Given the description of an element on the screen output the (x, y) to click on. 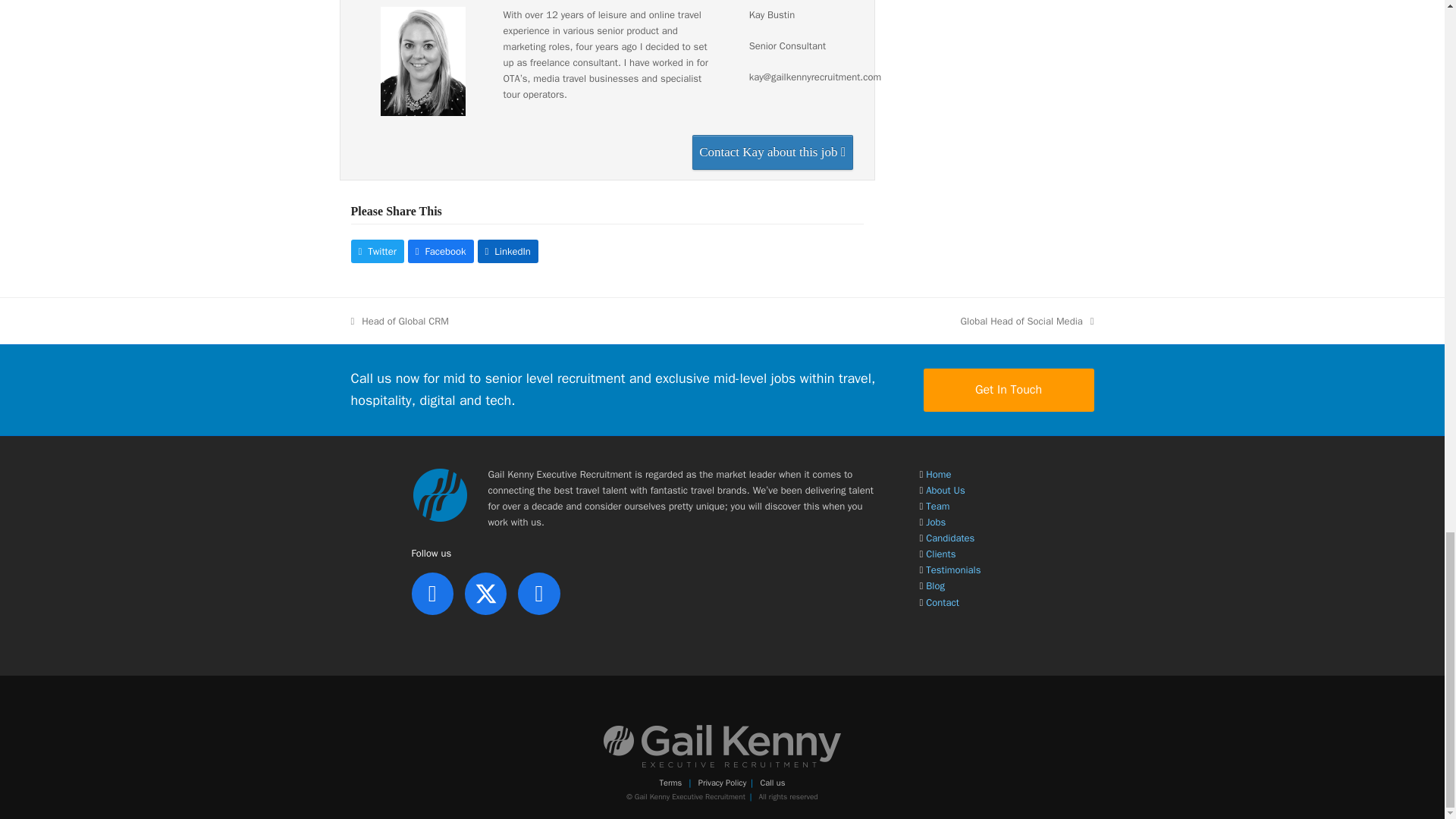
Contact Kay about this job (772, 152)
Email (772, 152)
LinkedIn (507, 250)
Twitter (376, 250)
Twitter (485, 593)
LinkedIn (431, 593)
Facebook (440, 250)
Instagram (538, 593)
